Given the description of an element on the screen output the (x, y) to click on. 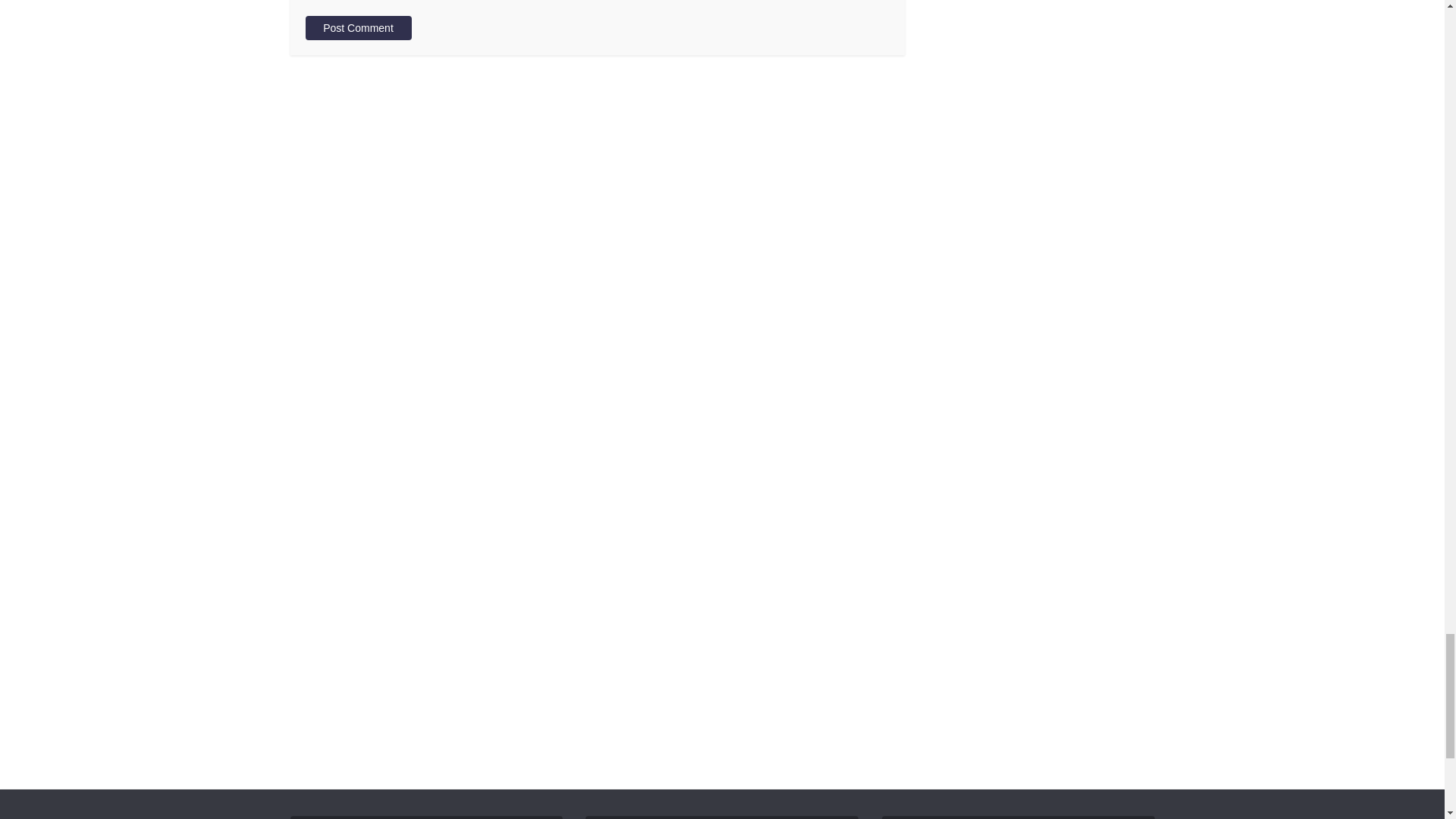
Post Comment (357, 27)
